Given the description of an element on the screen output the (x, y) to click on. 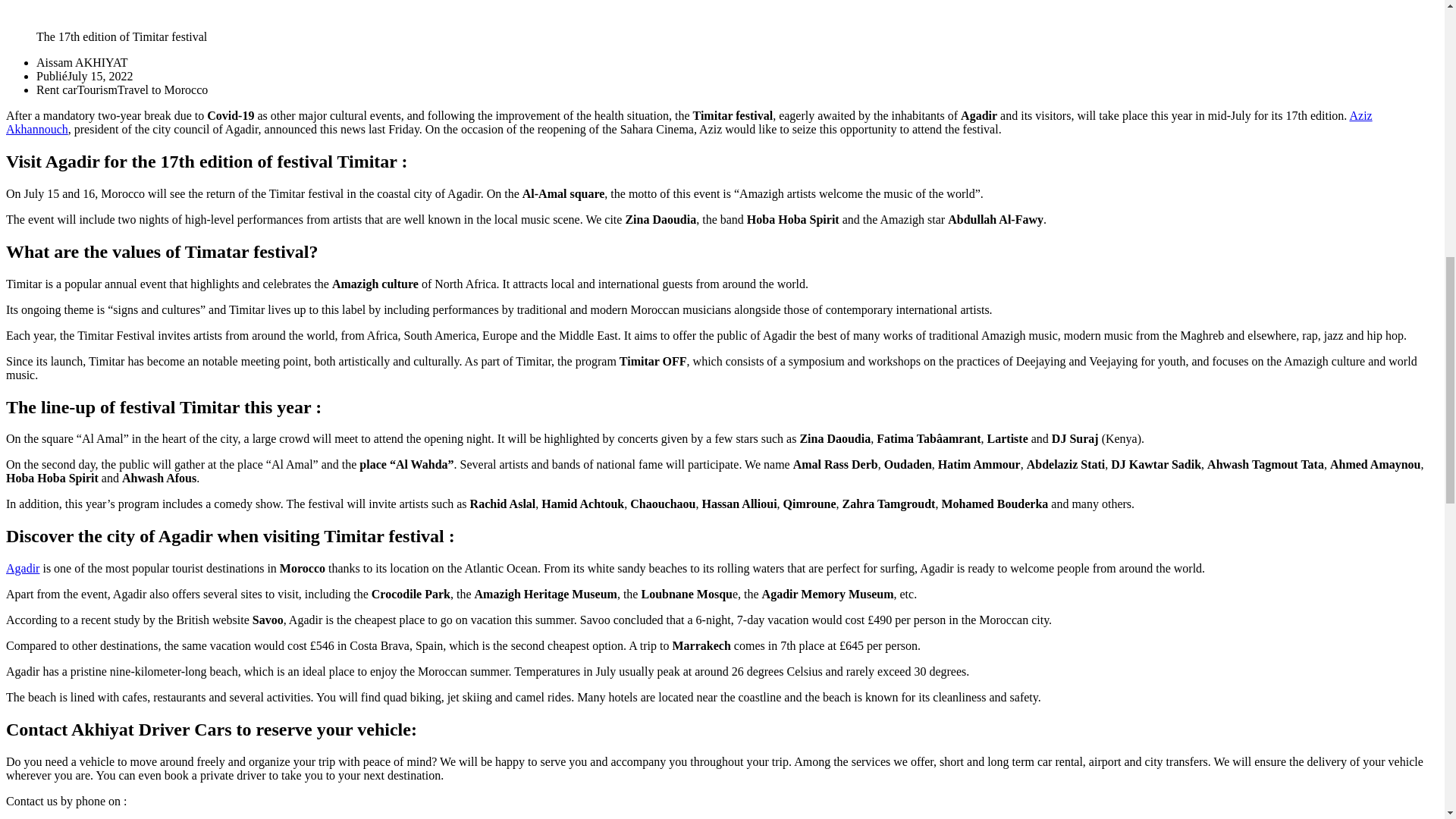
Agadir (22, 567)
The 17th edition of Timitar festival (424, 13)
Aziz Akhannouch (689, 121)
